Given the description of an element on the screen output the (x, y) to click on. 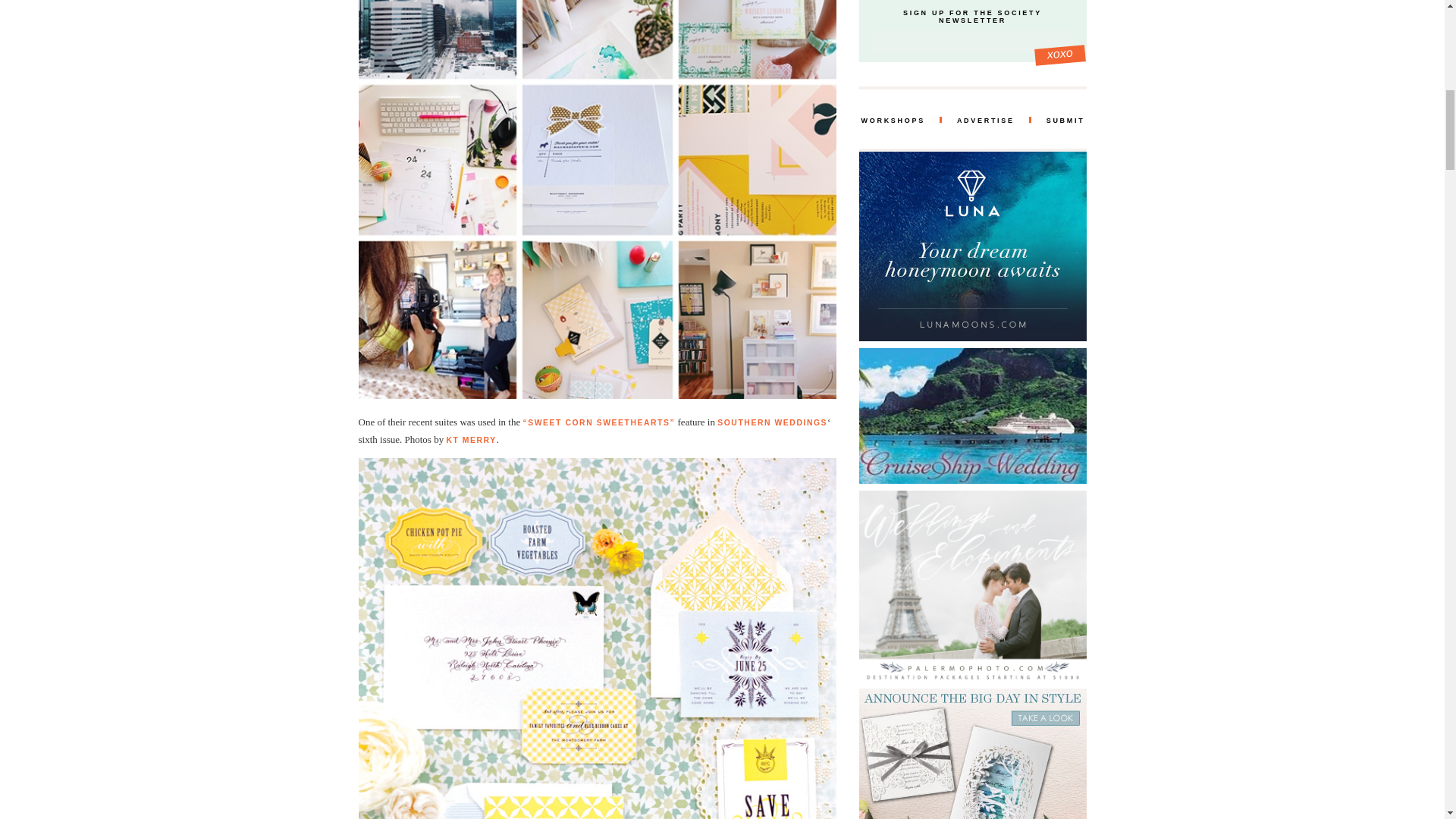
SOUTHERN WEDDINGS (772, 422)
XOXO (1058, 53)
KT MERRY (470, 439)
